Given the description of an element on the screen output the (x, y) to click on. 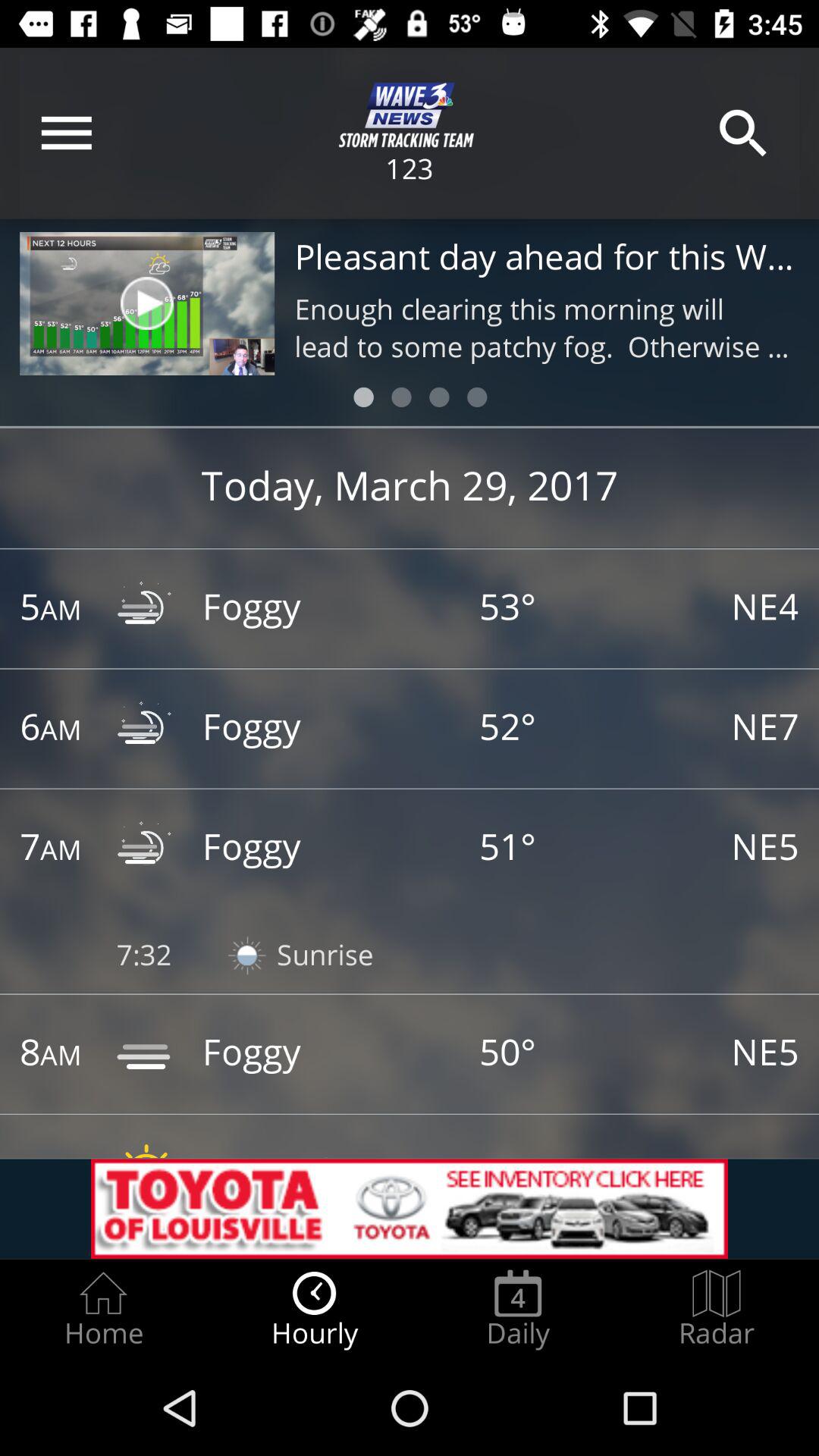
select the symbol which is right to 6am (146, 728)
select menu option which is on the top left corner of page (66, 132)
go to icon right of 8 am (146, 1053)
